Given the description of an element on the screen output the (x, y) to click on. 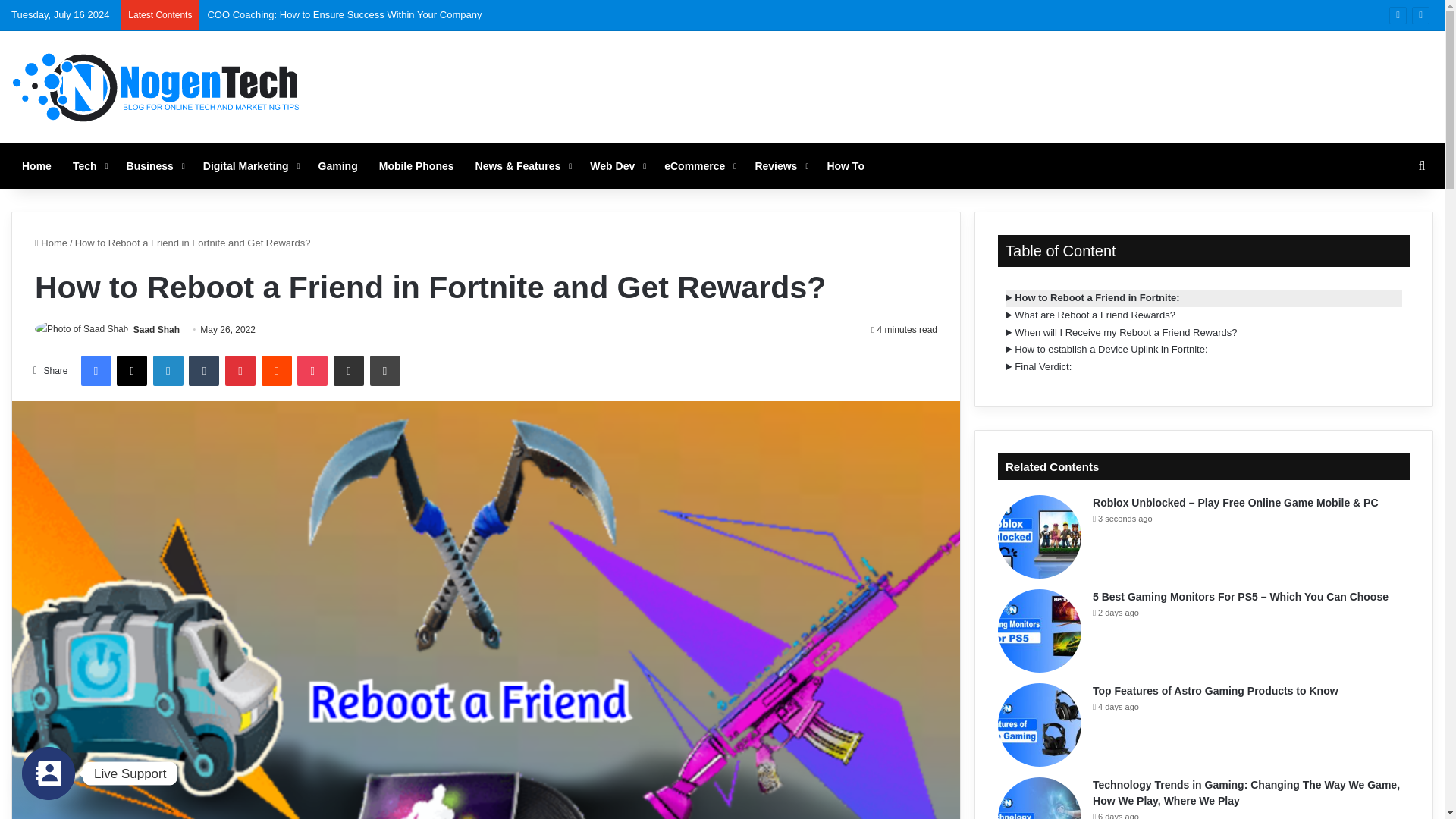
Home (36, 166)
Pocket (312, 370)
Gaming (337, 166)
Pinterest (240, 370)
X (131, 370)
Mobile Phones (416, 166)
NogenTech.org (156, 86)
Facebook (95, 370)
LinkedIn (167, 370)
Tumblr (204, 370)
Reddit (277, 370)
Digital Marketing (249, 166)
Share via Email (348, 370)
Business (154, 166)
Print (384, 370)
